Given the description of an element on the screen output the (x, y) to click on. 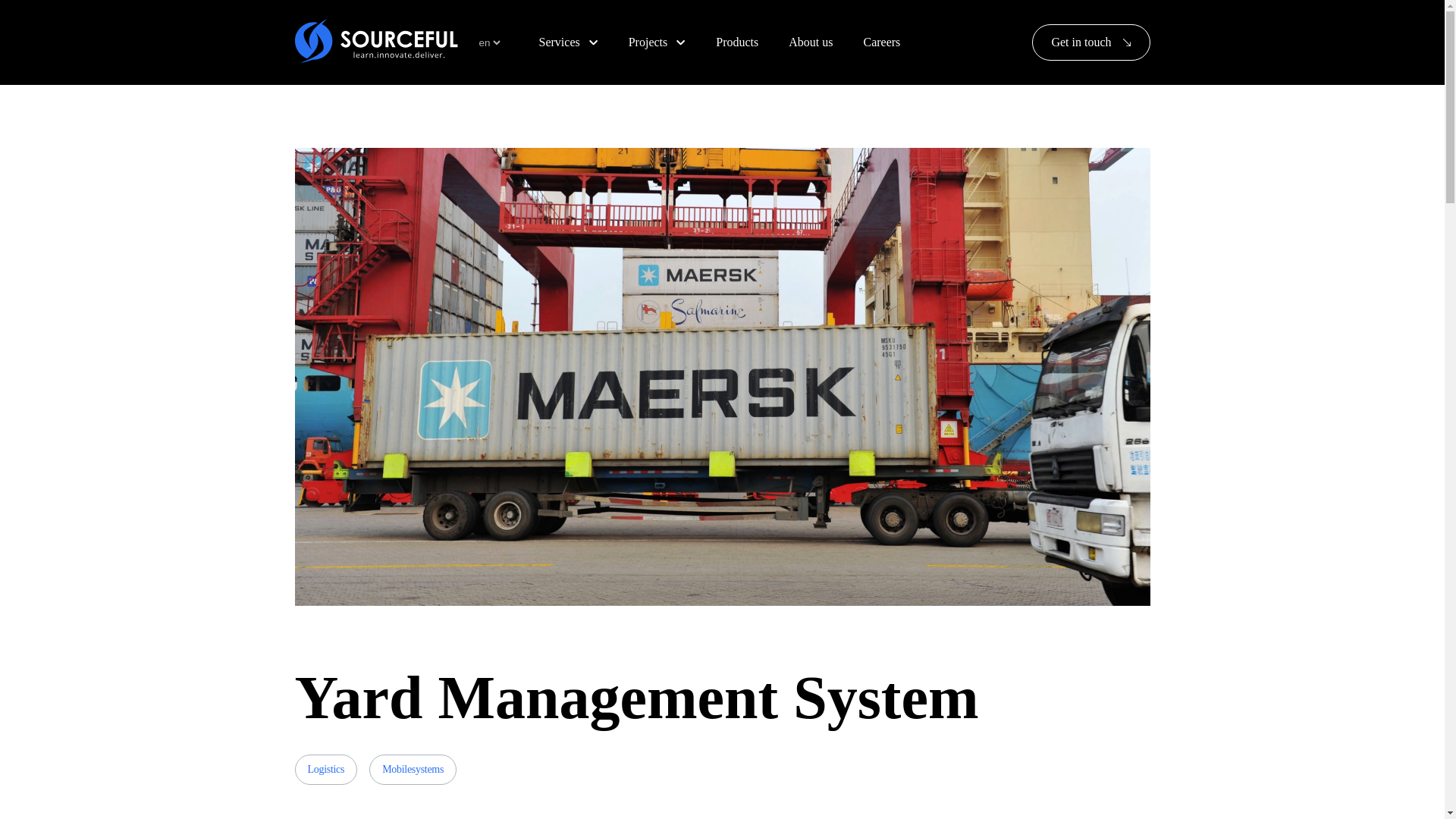
Projects (658, 41)
Products (737, 41)
Services (568, 41)
